Given the description of an element on the screen output the (x, y) to click on. 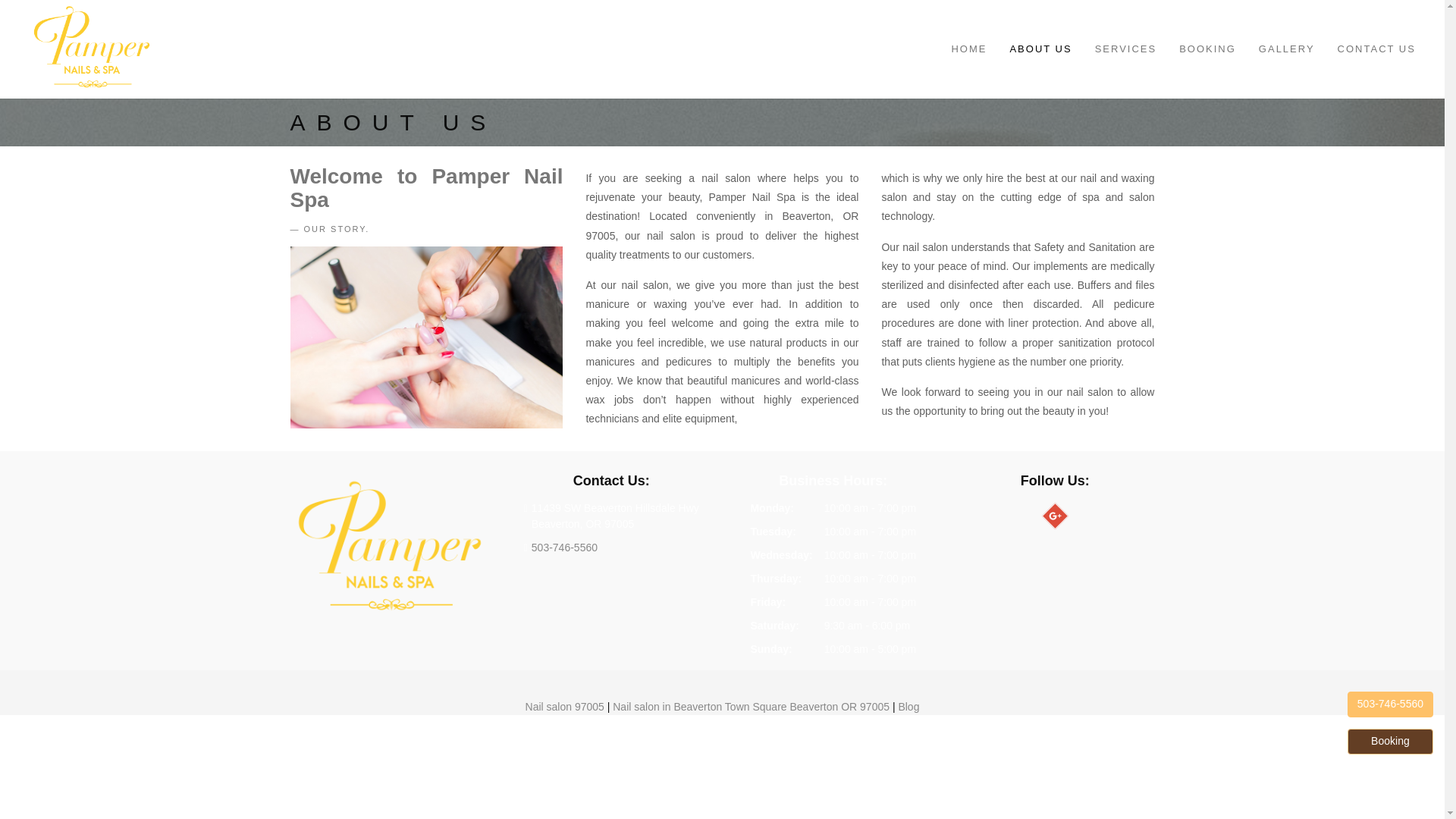
503-746-5560 (1390, 704)
Blog (908, 706)
Blog (908, 706)
503-746-5560 (563, 547)
Call Us (563, 547)
Booking (1390, 741)
Nail salon in Beaverton Town Square Beaverton OR 97005 (752, 706)
Google plus (1051, 511)
Nail salon 97005 (564, 706)
